Given the description of an element on the screen output the (x, y) to click on. 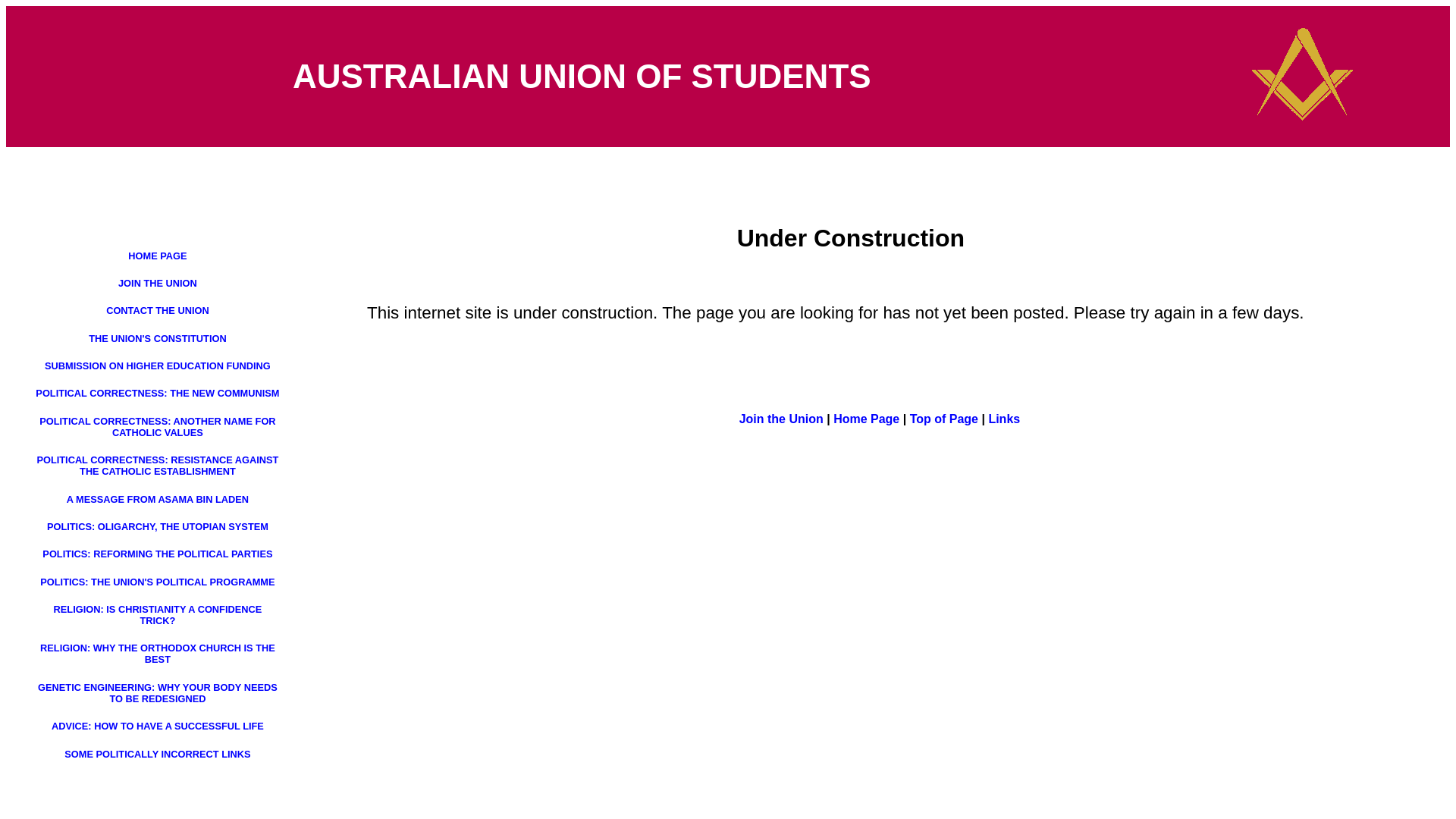
THE UNION'S CONSTITUTION Element type: text (157, 338)
RELIGION: WHY THE ORTHODOX CHURCH IS THE BEST Element type: text (157, 653)
POLITICS: REFORMING THE POLITICAL PARTIES Element type: text (157, 553)
A MESSAGE FROM ASAMA BIN LADEN Element type: text (157, 499)
RELIGION: IS CHRISTIANITY A CONFIDENCE TRICK? Element type: text (157, 614)
Top of Page Element type: text (944, 418)
POLITICS: OLIGARCHY, THE UTOPIAN SYSTEM Element type: text (157, 526)
CONTACT THE UNION Element type: text (157, 310)
JOIN THE UNION Element type: text (157, 282)
POLITICAL CORRECTNESS: ANOTHER NAME FOR CATHOLIC VALUES Element type: text (157, 426)
Links Element type: text (1003, 418)
SUBMISSION ON HIGHER EDUCATION FUNDING Element type: text (157, 365)
Join the Union Element type: text (781, 418)
SOME POLITICALLY INCORRECT LINKS Element type: text (157, 753)
POLITICS: THE UNION'S POLITICAL PROGRAMME Element type: text (157, 581)
Home Page Element type: text (866, 418)
GENETIC ENGINEERING: WHY YOUR BODY NEEDS TO BE REDESIGNED Element type: text (157, 692)
POLITICAL CORRECTNESS: THE NEW COMMUNISM Element type: text (157, 392)
ADVICE: HOW TO HAVE A SUCCESSFUL LIFE Element type: text (157, 725)
HOME PAGE Element type: text (157, 255)
